Given the description of an element on the screen output the (x, y) to click on. 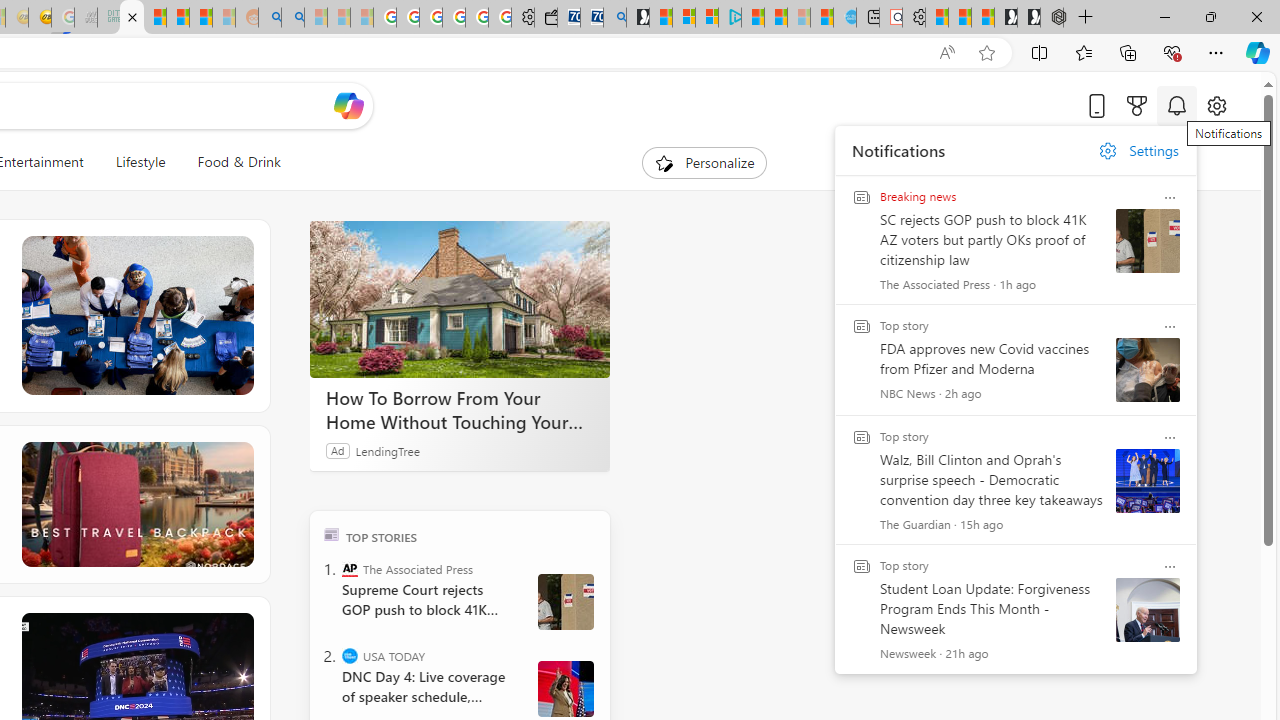
How To Borrow From Your Home Without Touching Your Mortgage (459, 299)
Microsoft rewards (1137, 105)
Microsoft Start Gaming (637, 17)
Home | Sky Blue Bikes - Sky Blue Bikes (845, 17)
Personalize (703, 162)
Lifestyle (139, 162)
Bing Real Estate - Home sales and rental listings (614, 17)
